Given the description of an element on the screen output the (x, y) to click on. 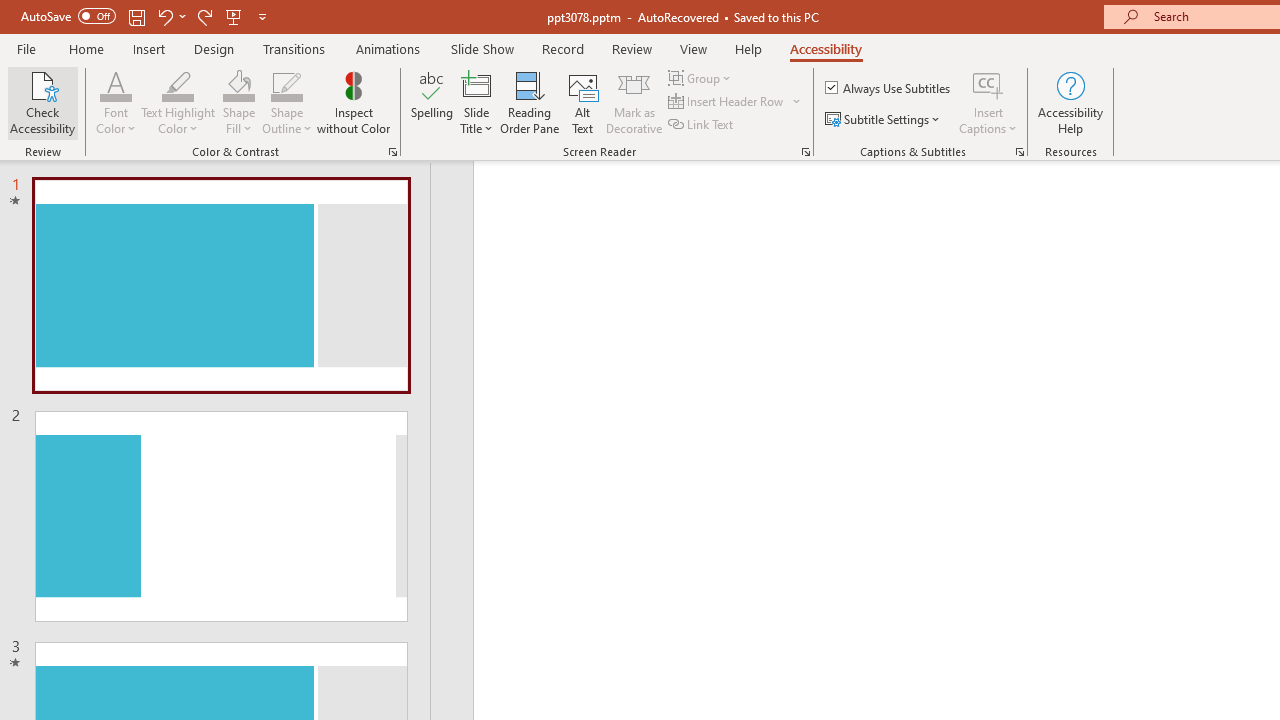
Reading Order Pane (529, 102)
Link Text (702, 124)
